Given the description of an element on the screen output the (x, y) to click on. 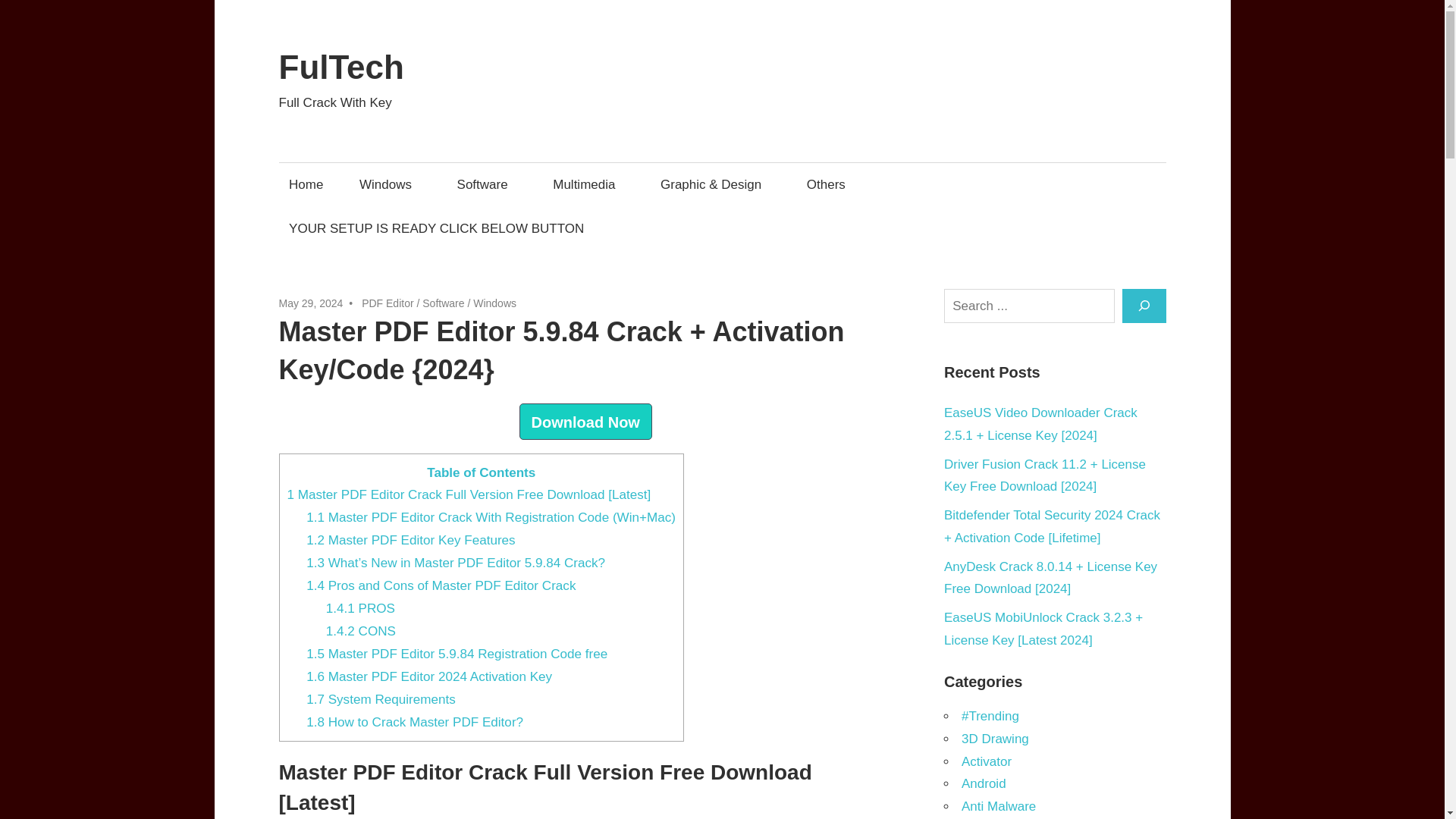
Windows (389, 184)
Software (486, 184)
Home (306, 184)
Download Now (585, 421)
PDF Editor (387, 303)
Multimedia (588, 184)
FulTech (341, 66)
Table of Contents (480, 472)
Windows (494, 303)
Others (830, 184)
